Given the description of an element on the screen output the (x, y) to click on. 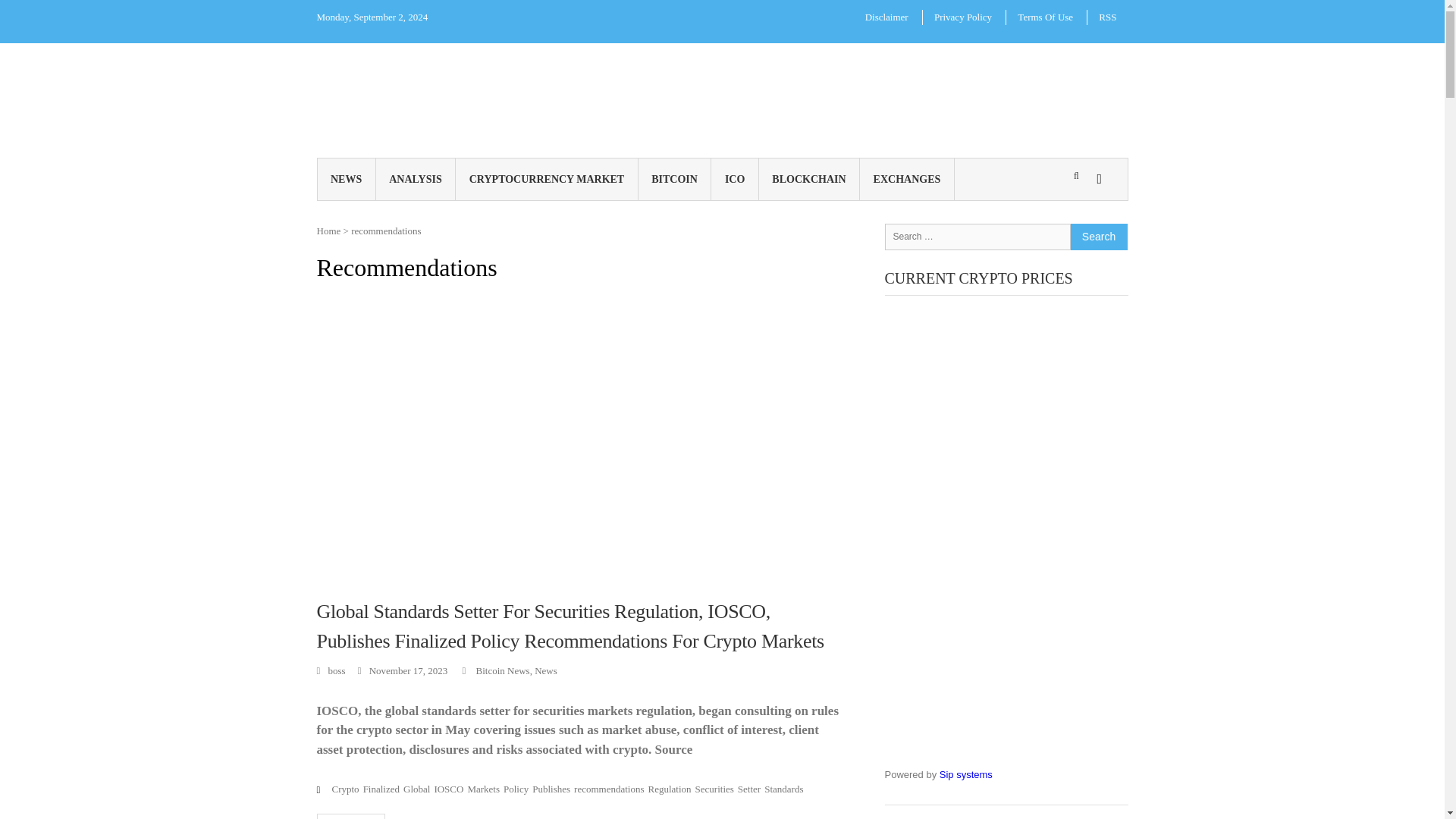
ANALYSIS (416, 178)
CRYPTOX (554, 87)
Search (1098, 235)
boss (331, 670)
News (545, 670)
BITCOIN (675, 178)
Disclaimer (886, 16)
EXCHANGES (907, 178)
Bitcoin News (502, 670)
Search (936, 286)
